Given the description of an element on the screen output the (x, y) to click on. 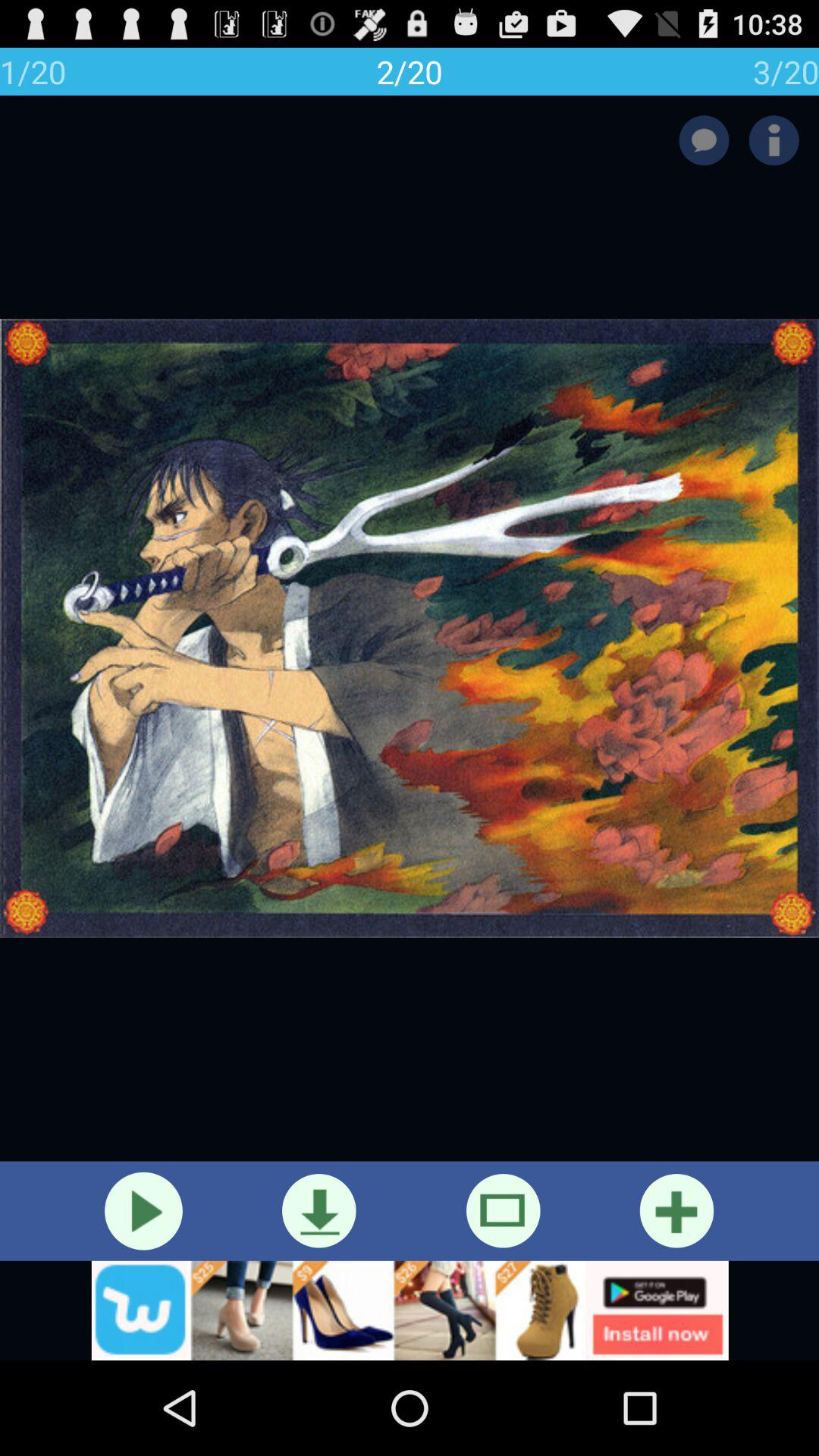
select the download (319, 1210)
